Given the description of an element on the screen output the (x, y) to click on. 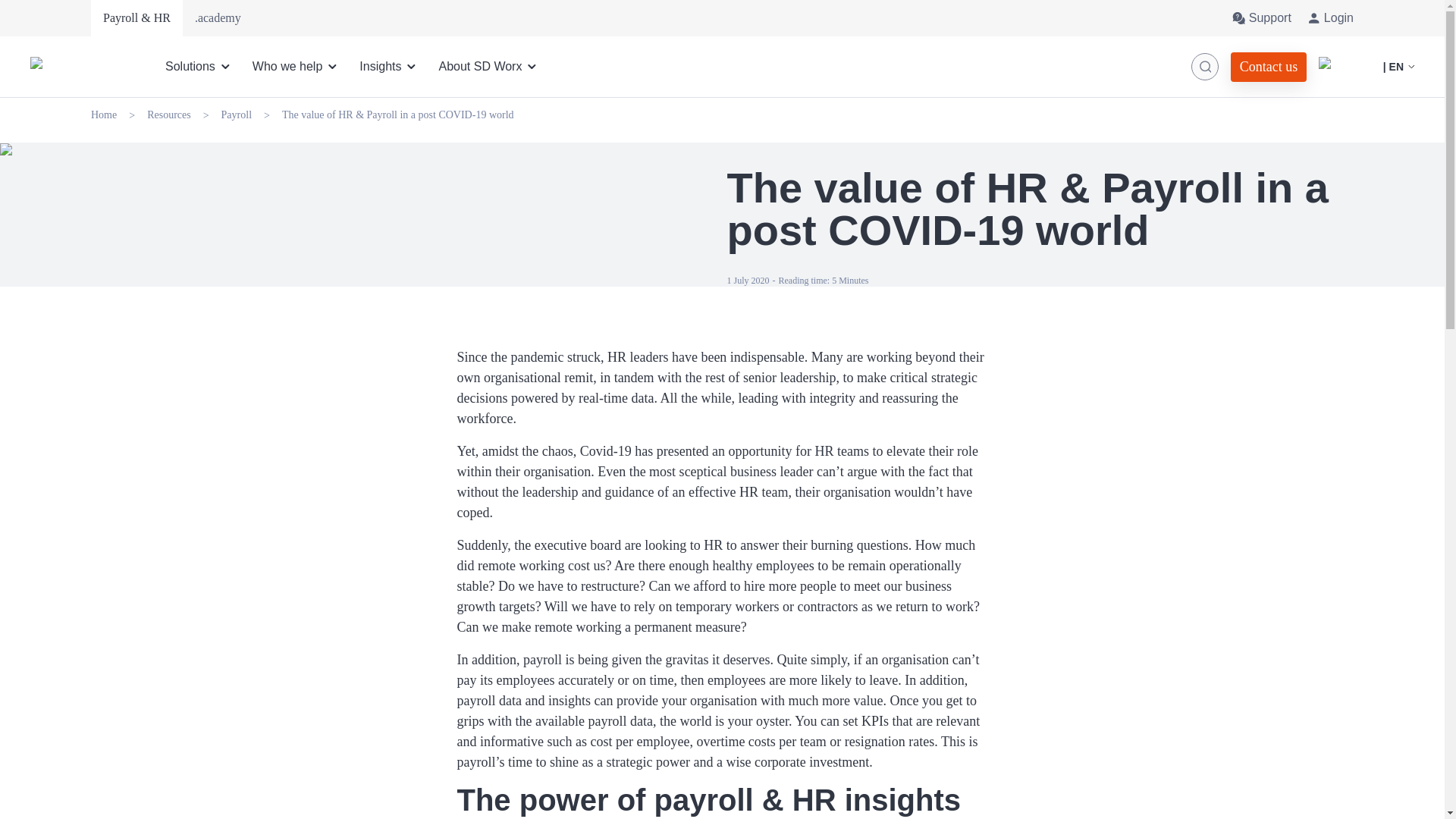
Solutions (199, 66)
Login (1330, 18)
.academy (218, 18)
Search (1204, 66)
Who we help (296, 66)
Support (1260, 18)
About SD Worx (489, 66)
Insights (389, 66)
